Given the description of an element on the screen output the (x, y) to click on. 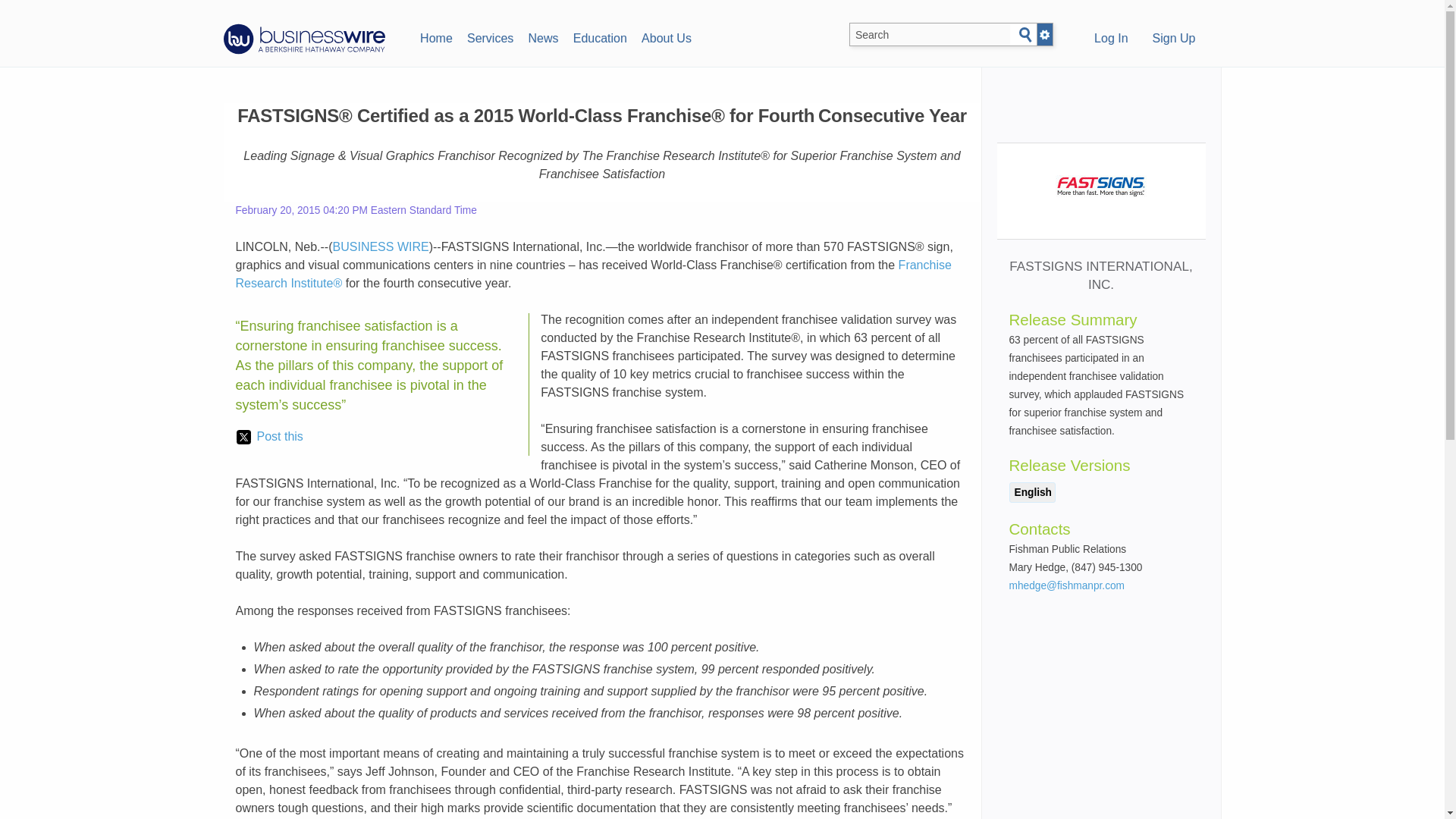
Home (436, 36)
About Us (665, 36)
Post this (269, 436)
Services (490, 36)
News (543, 36)
BUSINESS WIRE (381, 246)
Education (599, 36)
Search BusinessWire.com (930, 34)
Search (1025, 34)
